Given the description of an element on the screen output the (x, y) to click on. 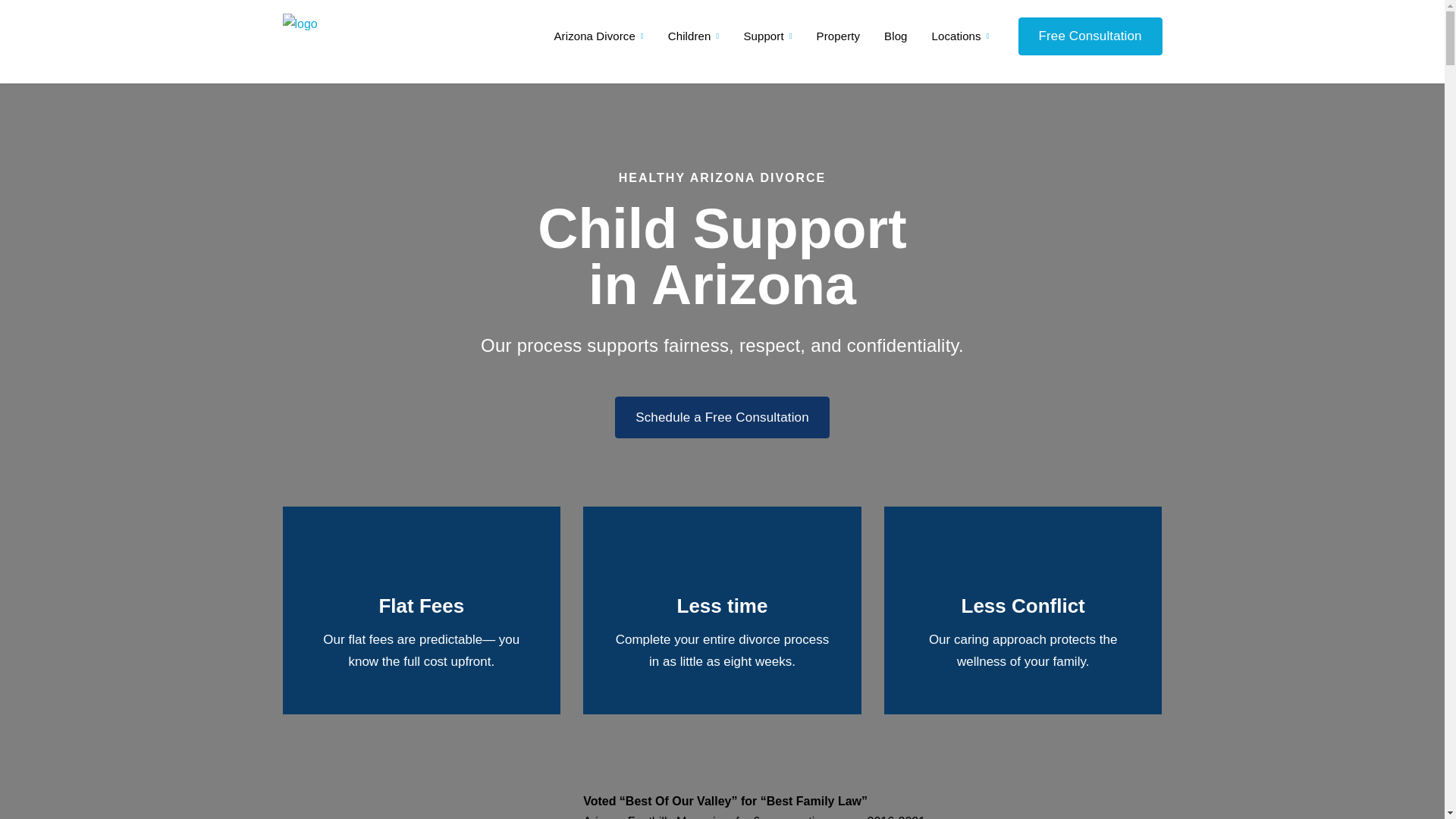
Free Consultation (1089, 36)
Schedule a Free Consultation (721, 417)
Support (766, 37)
Locations (968, 37)
Children (694, 37)
Property (838, 36)
Arizona Divorce (598, 37)
